Given the description of an element on the screen output the (x, y) to click on. 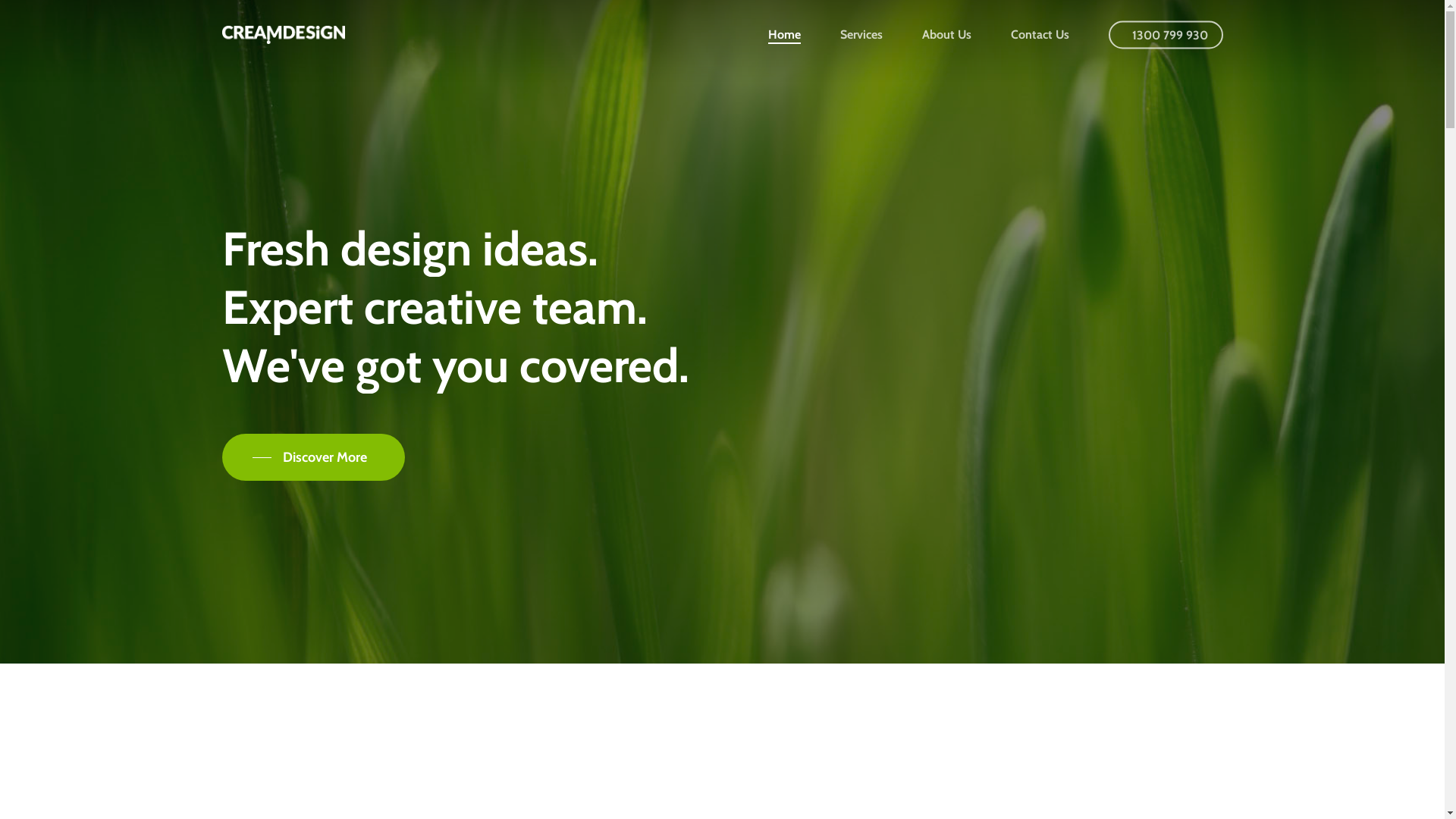
Home Element type: text (784, 34)
About Us Element type: text (946, 34)
Contact Us Element type: text (1039, 34)
Discover More Element type: text (312, 456)
Services Element type: text (861, 34)
1300 799 930 Element type: text (1165, 34)
